Given the description of an element on the screen output the (x, y) to click on. 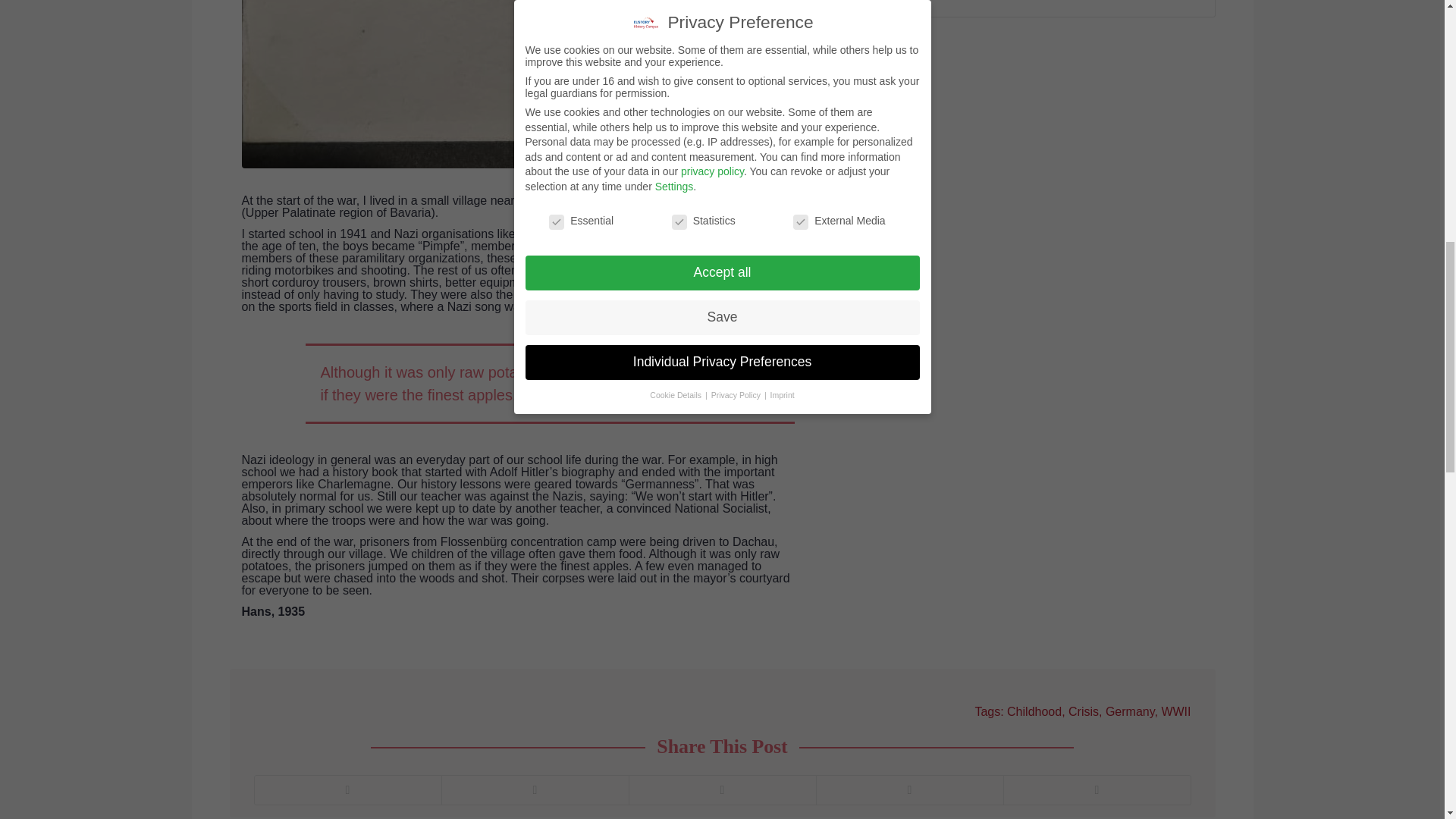
Facebook (534, 789)
Email (1096, 789)
11. Michael S. grandfather picture (485, 84)
Pinterest (721, 789)
Reddit (909, 789)
Twitter (347, 789)
